Given the description of an element on the screen output the (x, y) to click on. 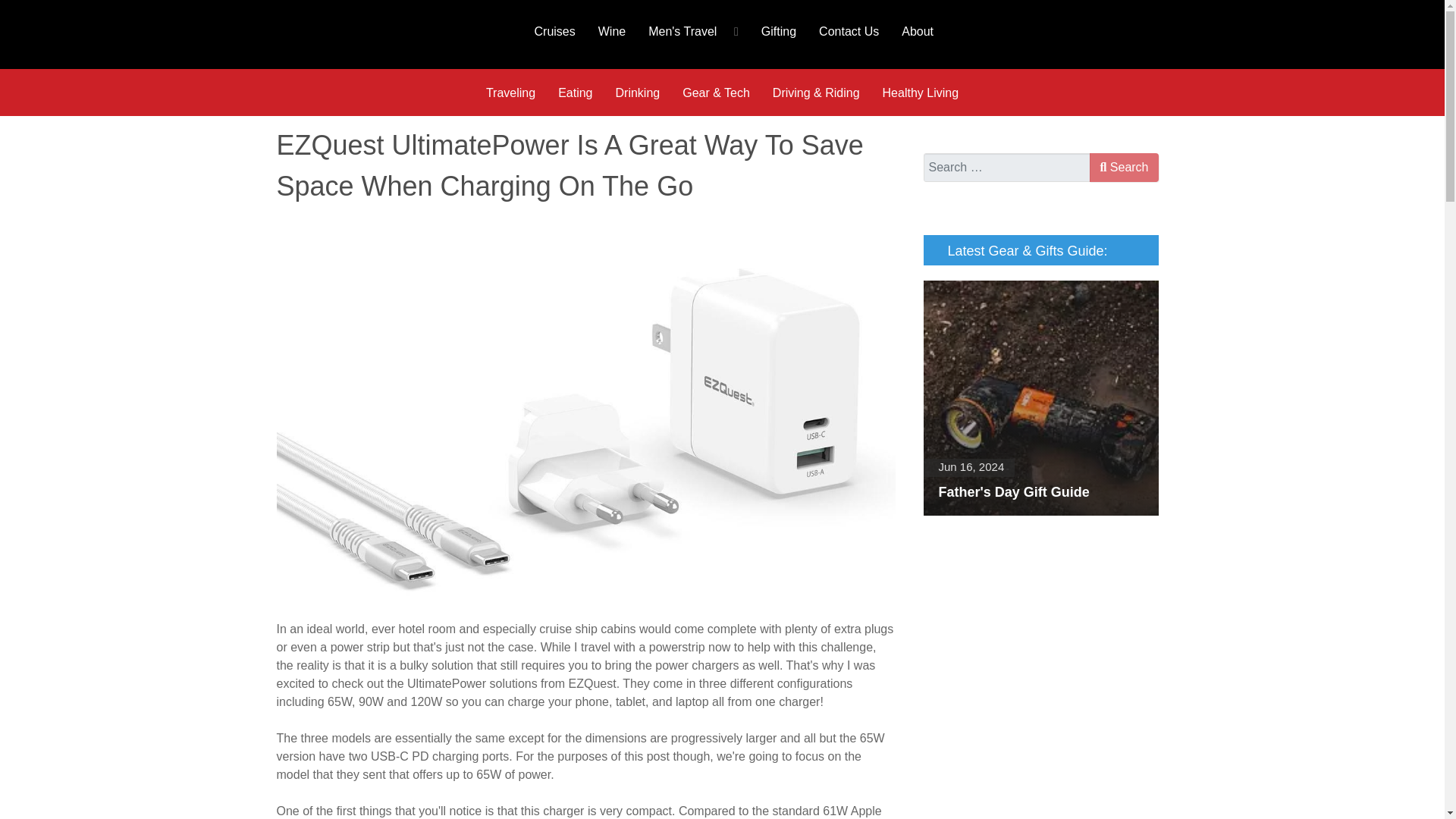
Contact Us (848, 30)
About (916, 30)
Father's Day Gift Guide (1040, 397)
Traveling (510, 92)
Healthy Living (920, 92)
Cruises (554, 30)
Search (1123, 167)
Wine (611, 30)
Contact Us (848, 30)
Eating (575, 92)
ManTripping.com Logo (385, 34)
Gifting (778, 30)
Drinking (637, 92)
